Given the description of an element on the screen output the (x, y) to click on. 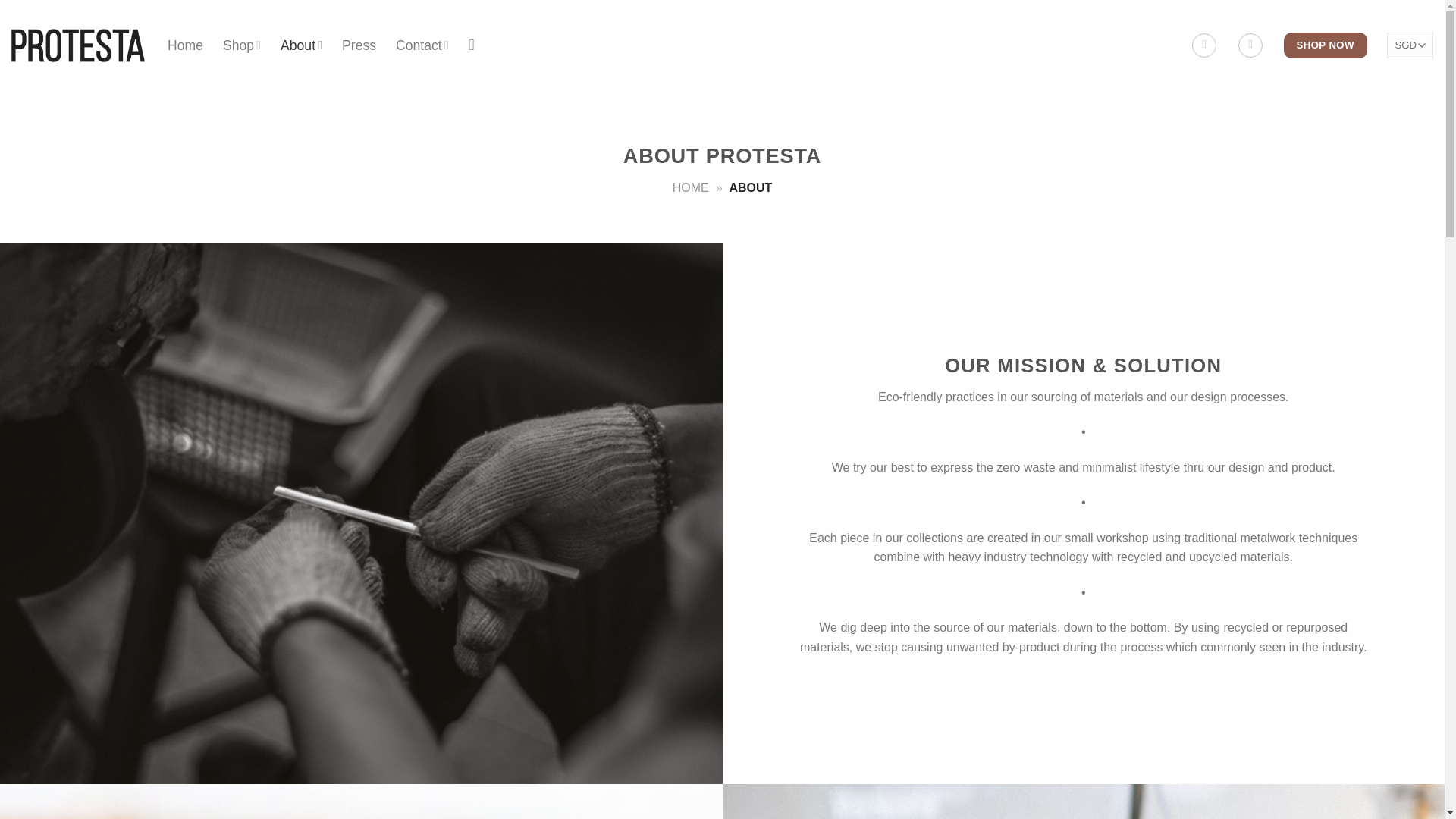
Home (185, 44)
SHOP NOW (1325, 45)
HOME (690, 187)
About (301, 44)
MISC DEPT PTE. LTD. - MISC DEPT PTE. LTD. (77, 45)
Shop (241, 44)
Cart (1250, 45)
Press (358, 44)
Contact (422, 44)
